Given the description of an element on the screen output the (x, y) to click on. 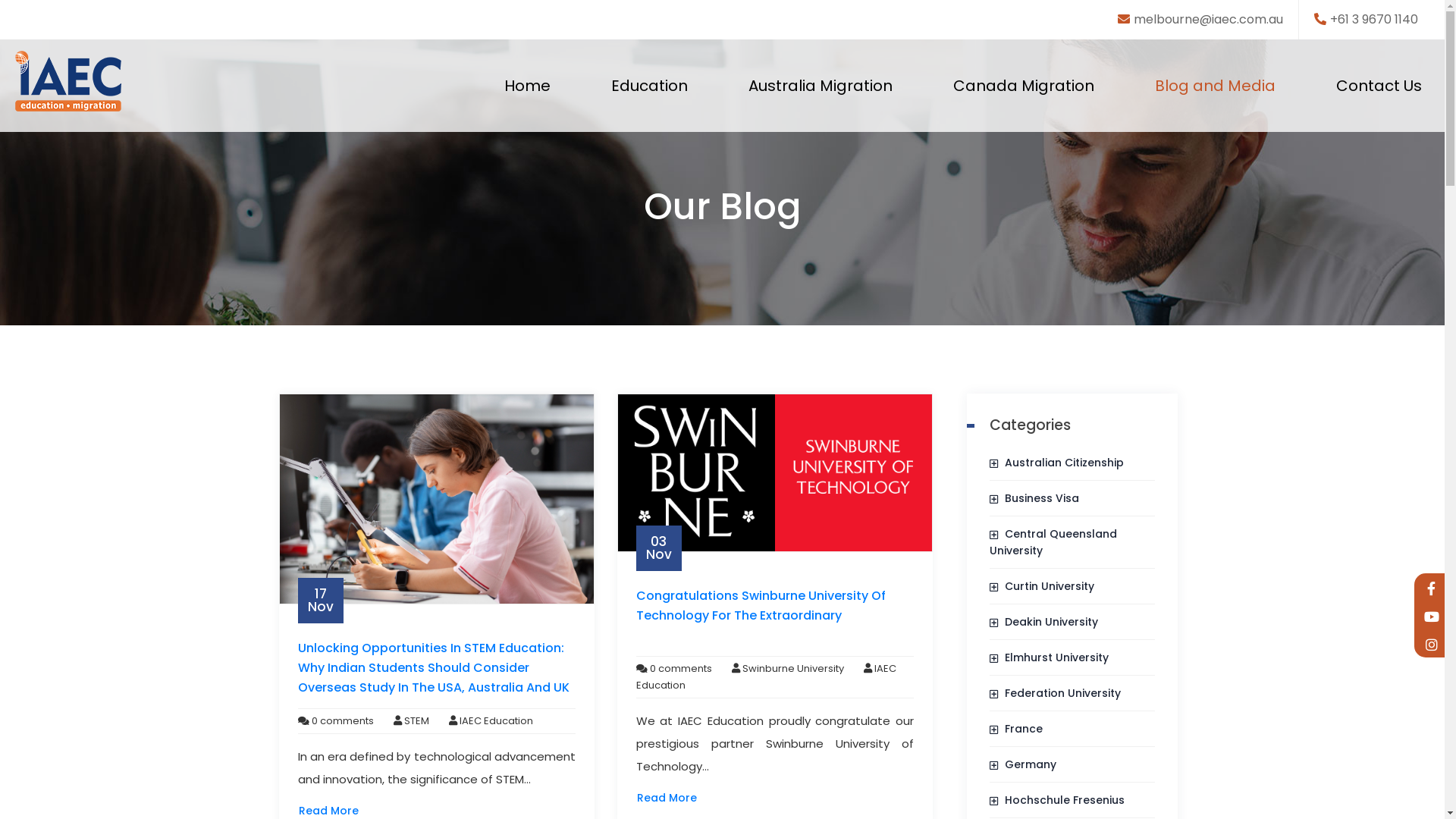
Hochschule Fresenius Element type: text (1056, 799)
Contact Us Element type: text (1378, 85)
Central Queensland University Element type: text (1053, 542)
IAEC Element type: hover (68, 80)
Federation University Element type: text (1054, 692)
Curtin University Element type: text (1041, 585)
Read More Element type: text (666, 797)
Education Element type: text (649, 85)
Business Visa Element type: text (1034, 497)
Canada Migration Element type: text (1023, 85)
Australia Migration Element type: text (820, 85)
Deakin University Element type: text (1043, 621)
+61 3 9670 1140 Element type: text (1366, 19)
Australian Citizenship Element type: text (1056, 462)
Blog and Media Element type: text (1215, 85)
Germany Element type: text (1022, 763)
Elmhurst University Element type: text (1048, 657)
France Element type: text (1015, 728)
Home Element type: text (527, 85)
melbourne@iaec.com.au Element type: text (1200, 19)
